Given the description of an element on the screen output the (x, y) to click on. 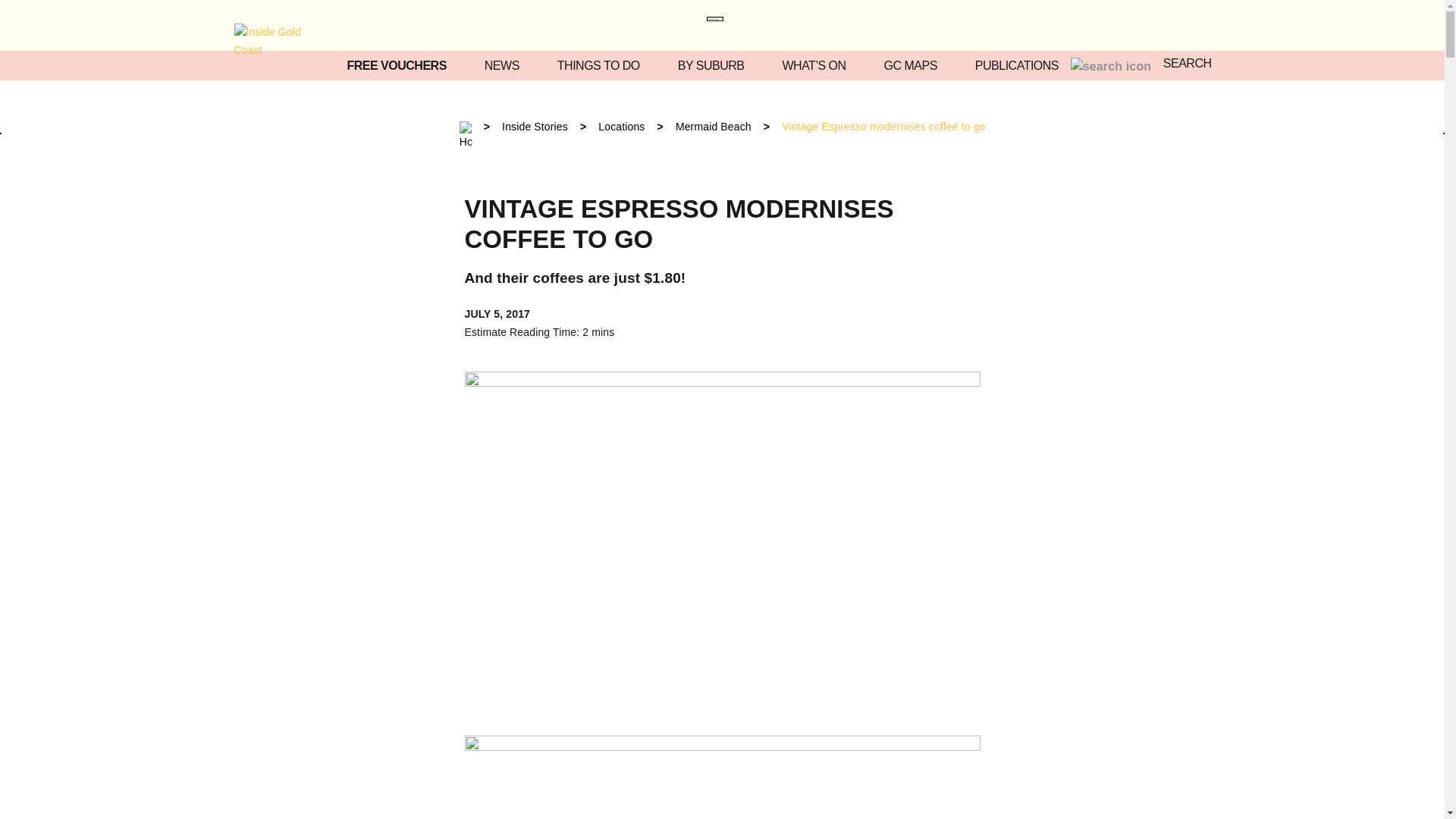
GC MAPS (913, 65)
Inside Stories (534, 126)
THINGS TO DO (602, 65)
BY SUBURB (715, 65)
Locations (621, 126)
NEWS (505, 65)
SEARCH (1140, 65)
PUBLICATIONS (1020, 65)
Mermaid Beach (713, 126)
FREE VOUCHERS (400, 65)
